Given the description of an element on the screen output the (x, y) to click on. 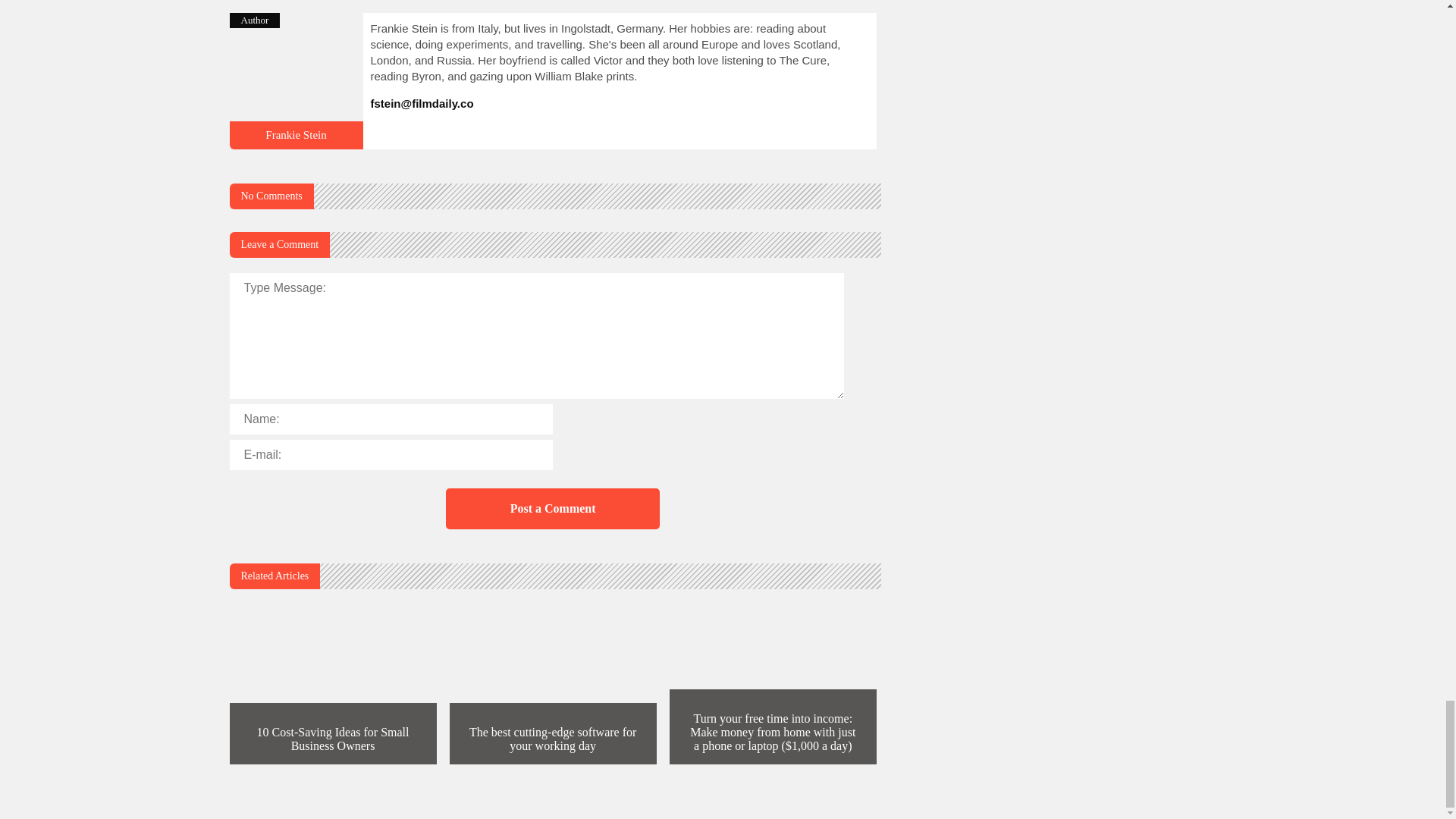
Creative and Profitable Business Ideas for Women in 2022 (295, 134)
Creative and Profitable Business Ideas for Women in 2022 (295, 142)
Post a Comment (552, 508)
